Given the description of an element on the screen output the (x, y) to click on. 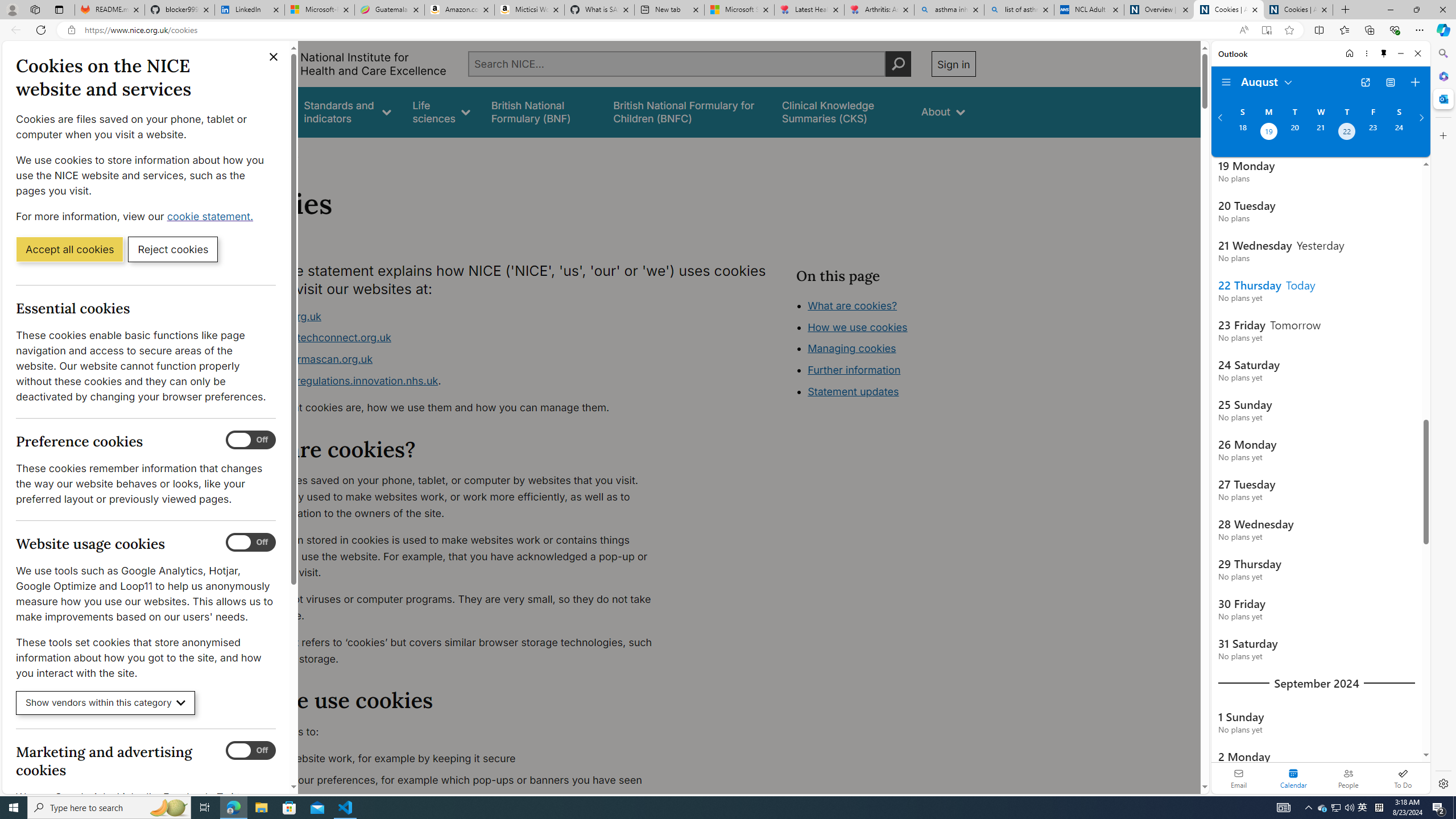
About (283, 152)
How we use cookies (857, 327)
Home> (246, 152)
Wednesday, August 21, 2024.  (1320, 132)
www.digitalregulations.innovation.nhs.uk (338, 380)
www.nice.org.uk (279, 315)
Monday, August 19, 2024. Date selected.  (1268, 132)
